Given the description of an element on the screen output the (x, y) to click on. 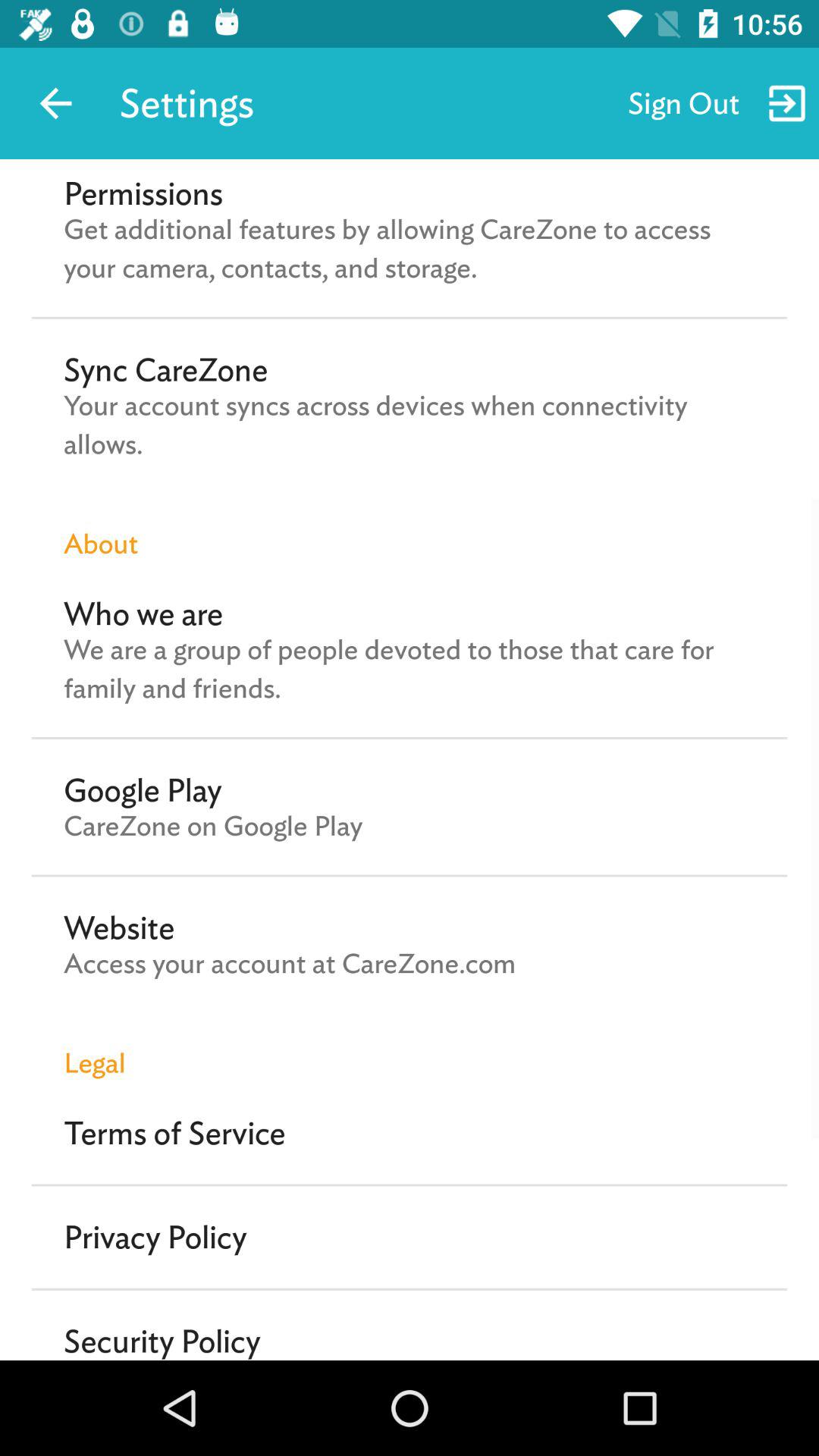
move to right of sign out (787, 103)
